Given the description of an element on the screen output the (x, y) to click on. 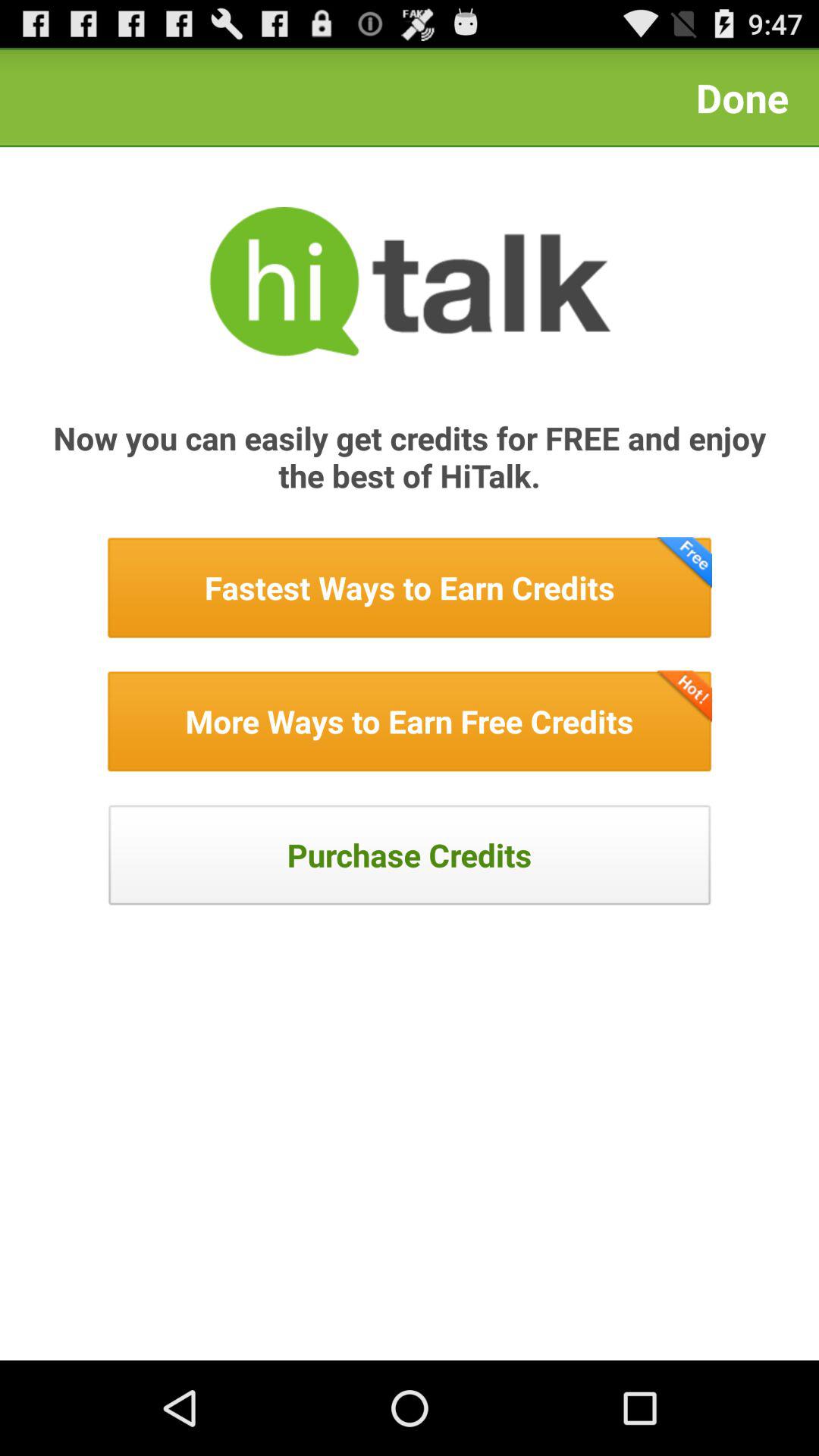
more ways to earn free credits (409, 721)
